Given the description of an element on the screen output the (x, y) to click on. 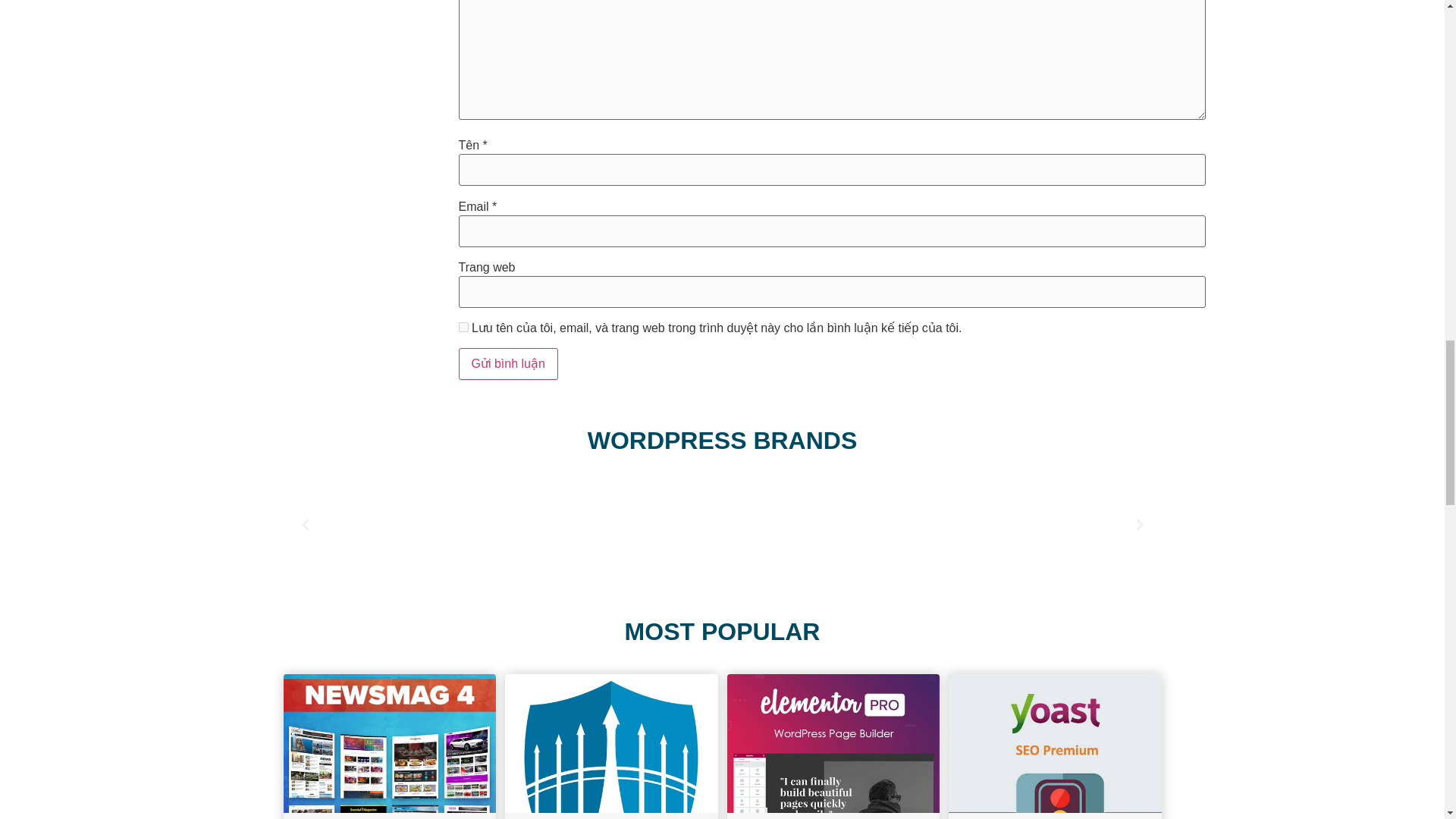
yes (463, 327)
